Given the description of an element on the screen output the (x, y) to click on. 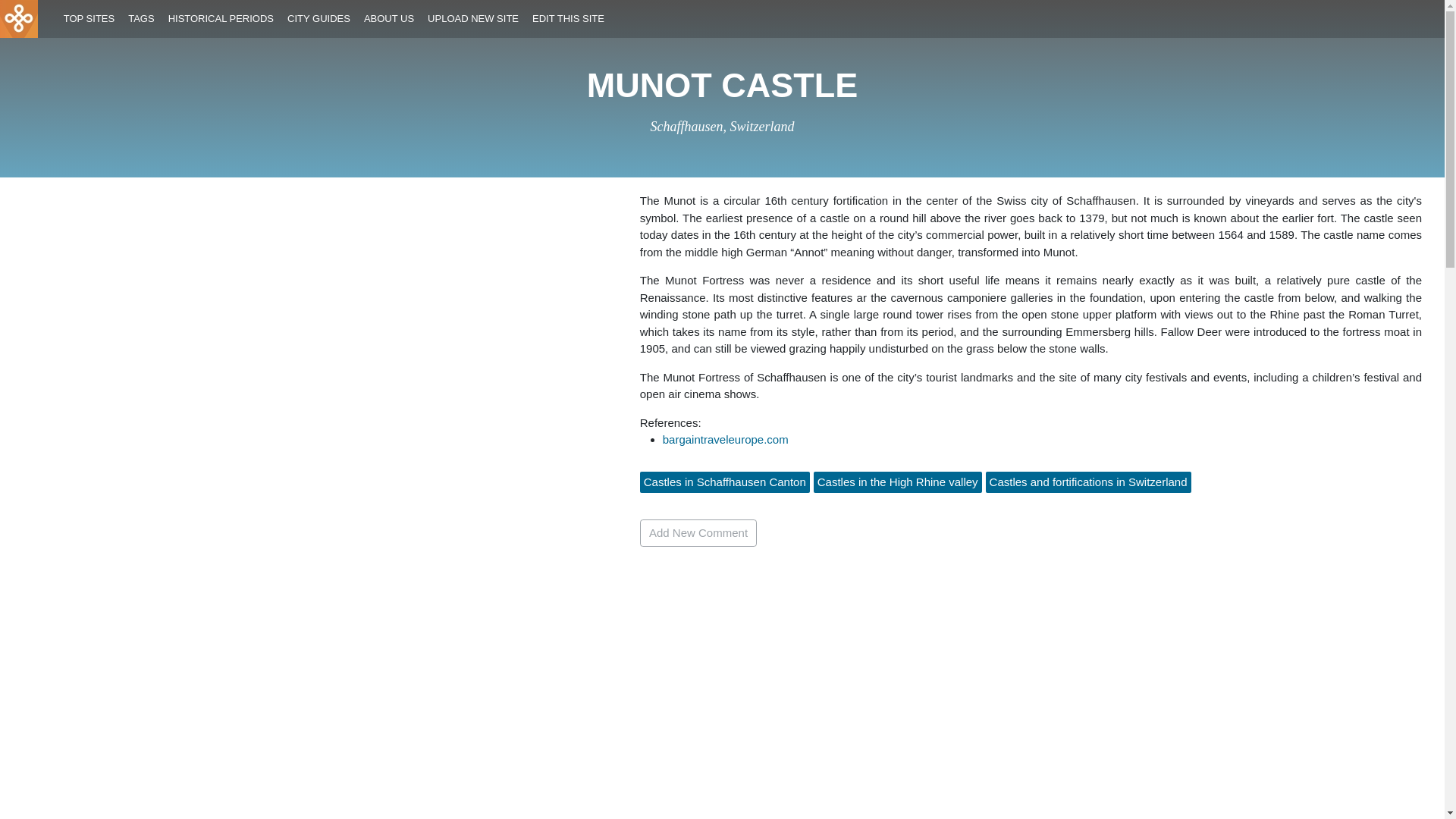
ABOUT US (388, 18)
TOP SITES (88, 18)
Castles in Schaffhausen Canton (724, 481)
Display on map (722, 126)
Add New Comment (698, 533)
Castles in the High Rhine valley (897, 481)
Castles and fortifications in Switzerland (1089, 481)
UPLOAD NEW SITE (473, 18)
TAGS (141, 18)
Schaffhausen, Switzerland (722, 126)
